Given the description of an element on the screen output the (x, y) to click on. 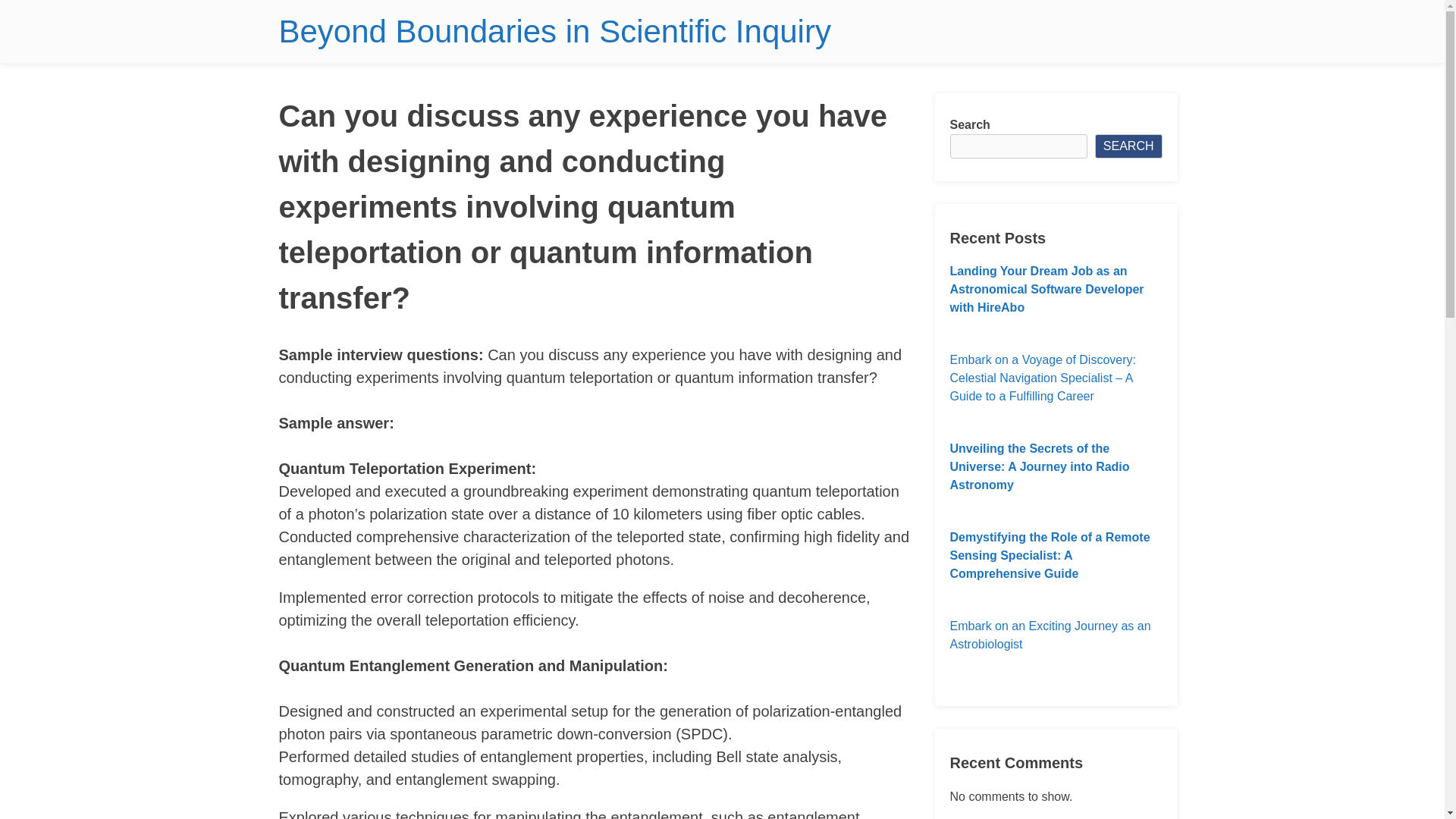
Embark on an Exciting Journey as an Astrobiologist (1055, 635)
Beyond Boundaries in Scientific Inquiry (555, 31)
SEARCH (1127, 146)
HireAbo (1000, 307)
